Given the description of an element on the screen output the (x, y) to click on. 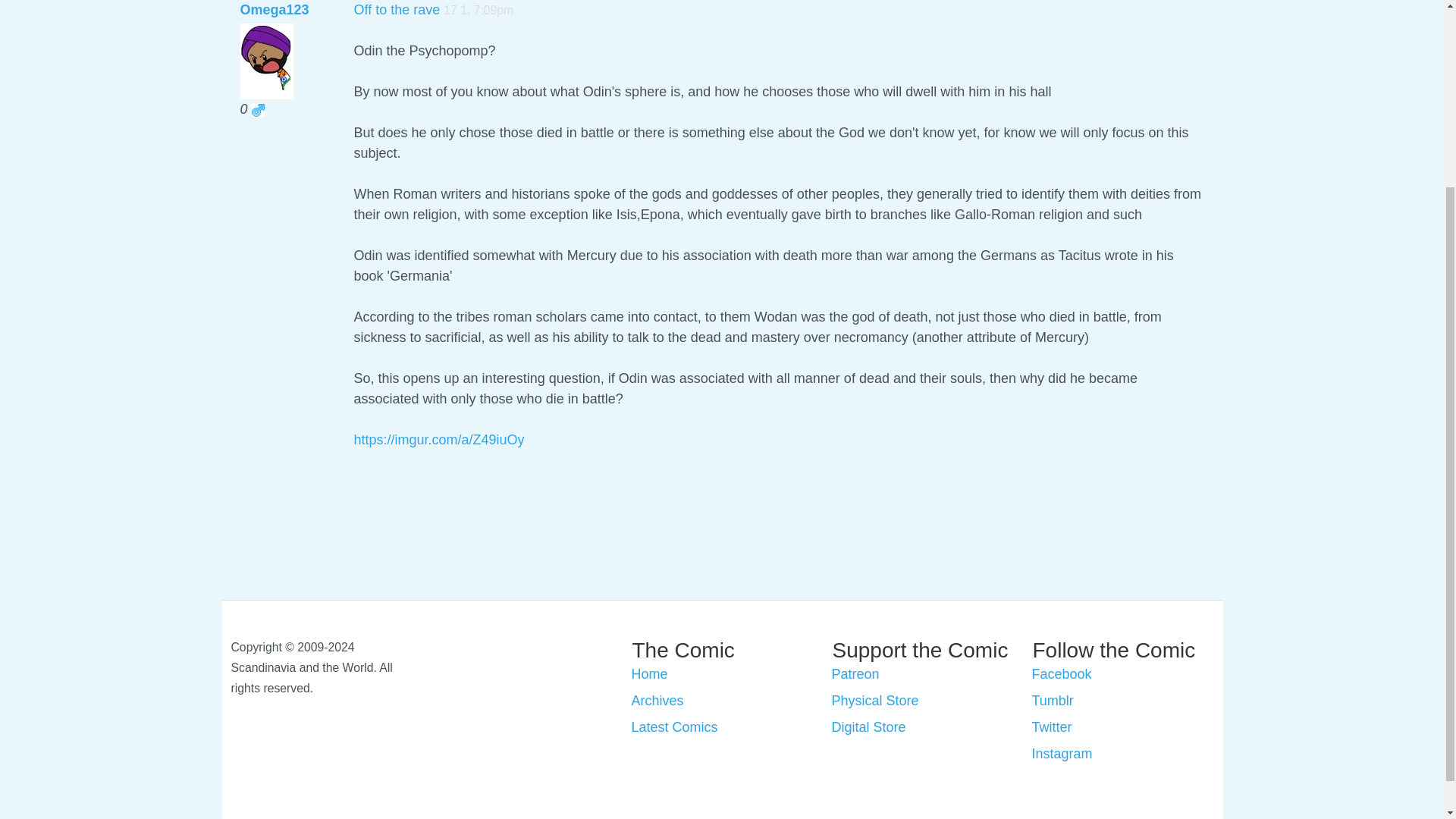
Omega123 (274, 9)
